Given the description of an element on the screen output the (x, y) to click on. 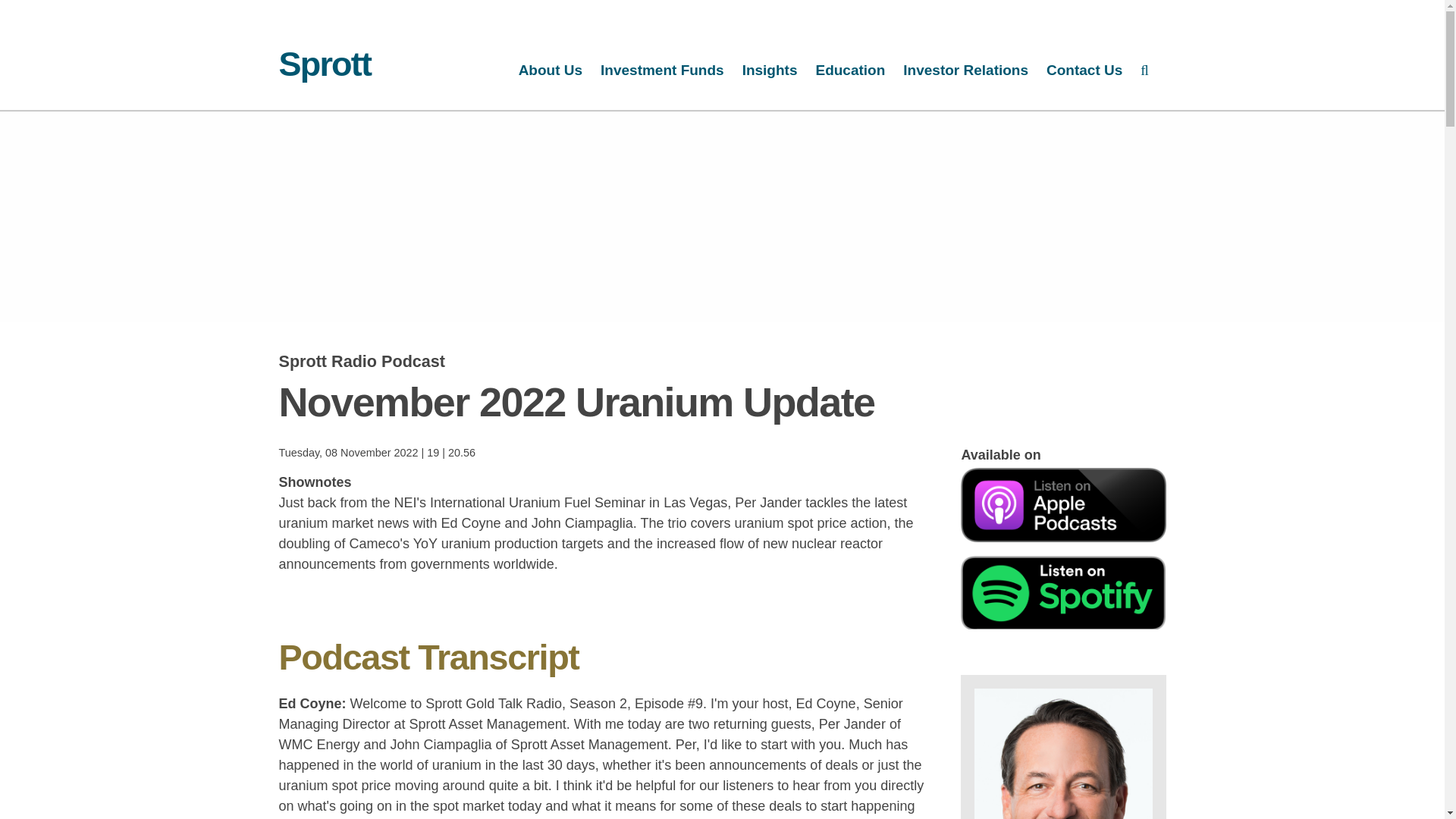
Investment Funds (662, 70)
About Us (550, 70)
Insights (769, 70)
Sprott (324, 64)
